Given the description of an element on the screen output the (x, y) to click on. 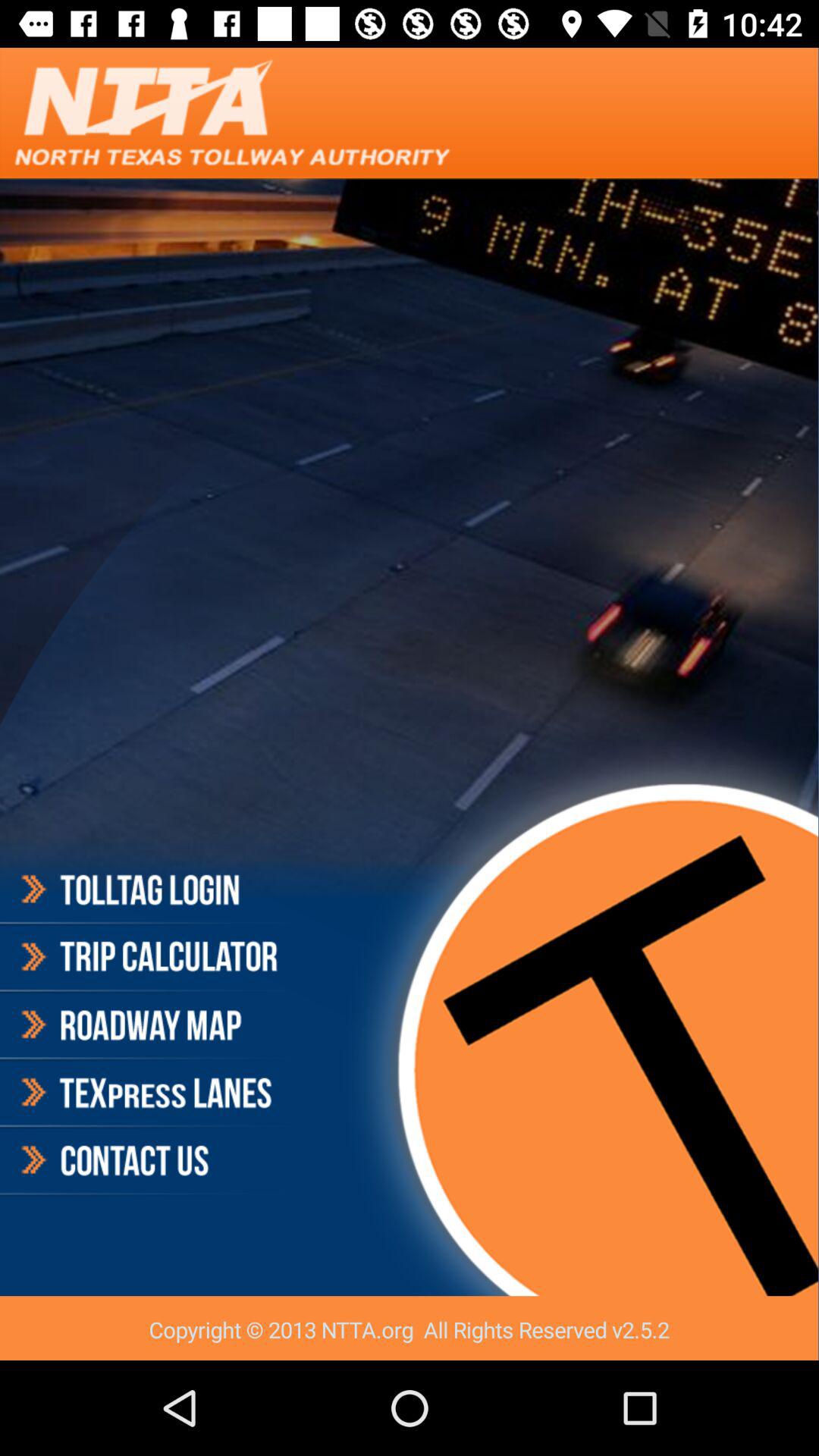
go to trip calculator (147, 957)
